Given the description of an element on the screen output the (x, y) to click on. 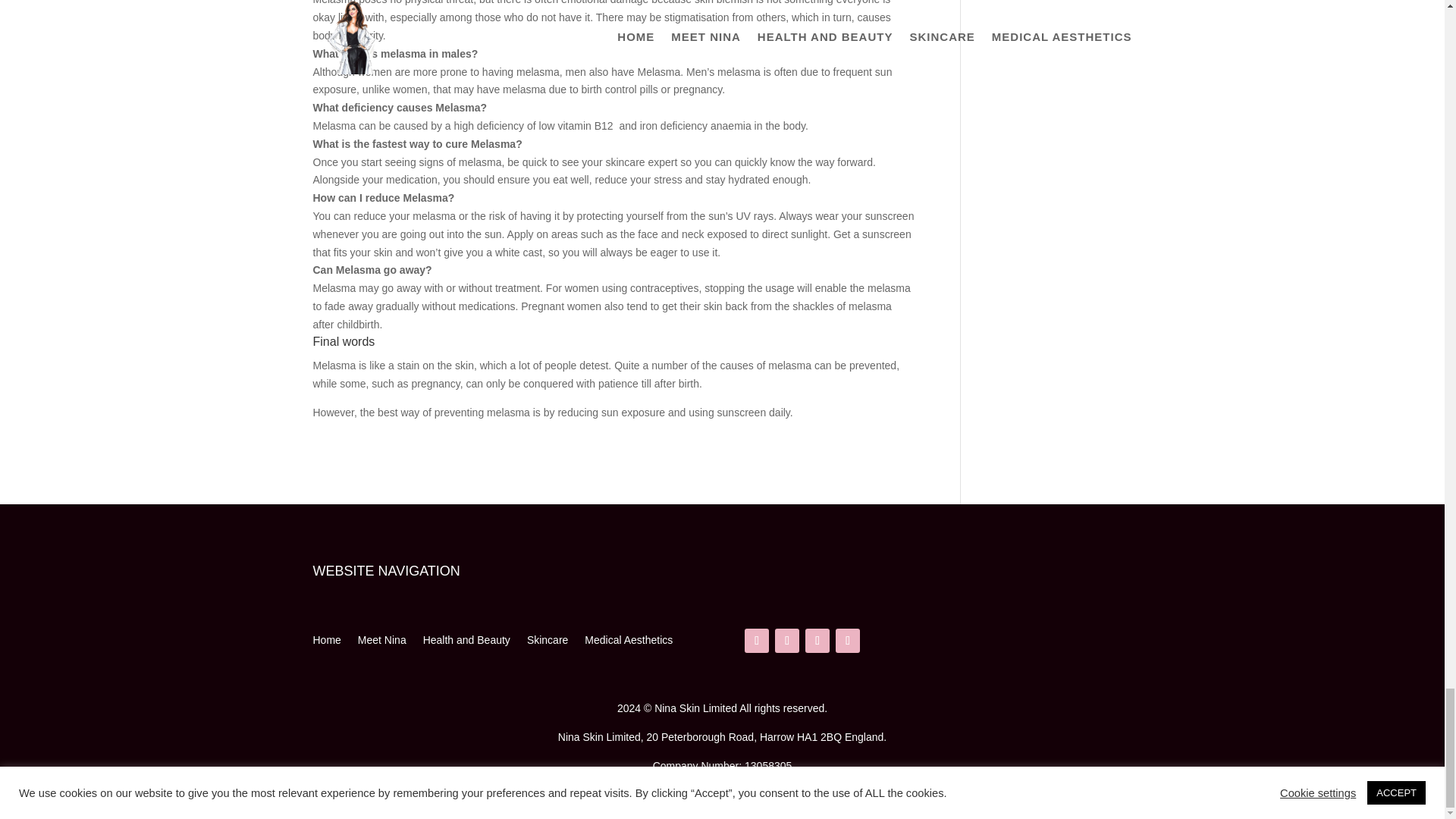
Skincare (547, 642)
Follow on Instagram (786, 640)
Home (326, 642)
Follow on Facebook (756, 640)
Follow on Youtube (847, 640)
Meet Nina (382, 642)
Medical Aesthetics (628, 642)
Health and Beauty (467, 642)
Follow on X (817, 640)
